Given the description of an element on the screen output the (x, y) to click on. 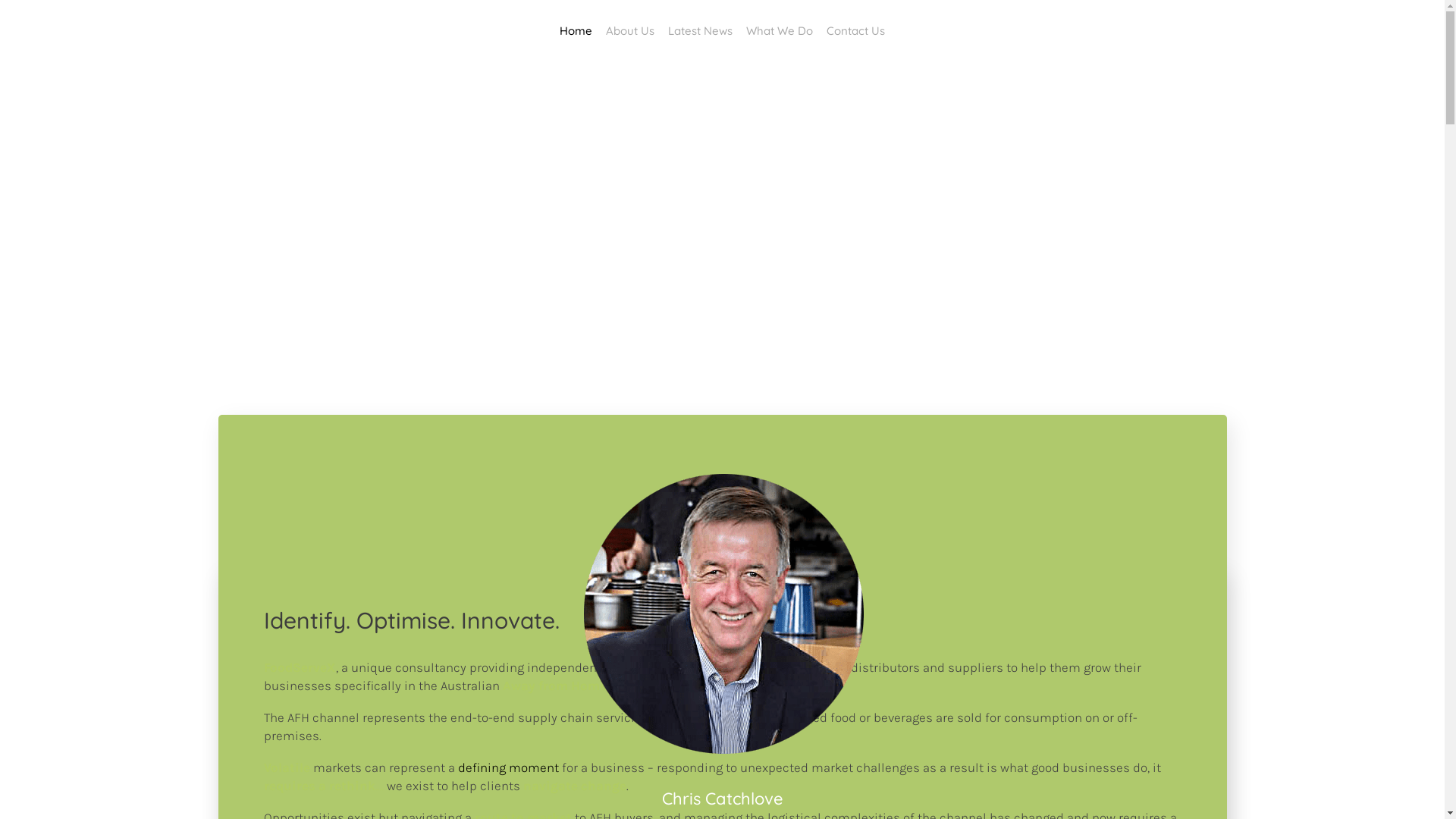
Home Element type: text (575, 30)
What We Do Element type: text (779, 30)
About Us Element type: text (630, 30)
Latest News Element type: text (700, 30)
Contact Us Element type: text (855, 30)
